Given the description of an element on the screen output the (x, y) to click on. 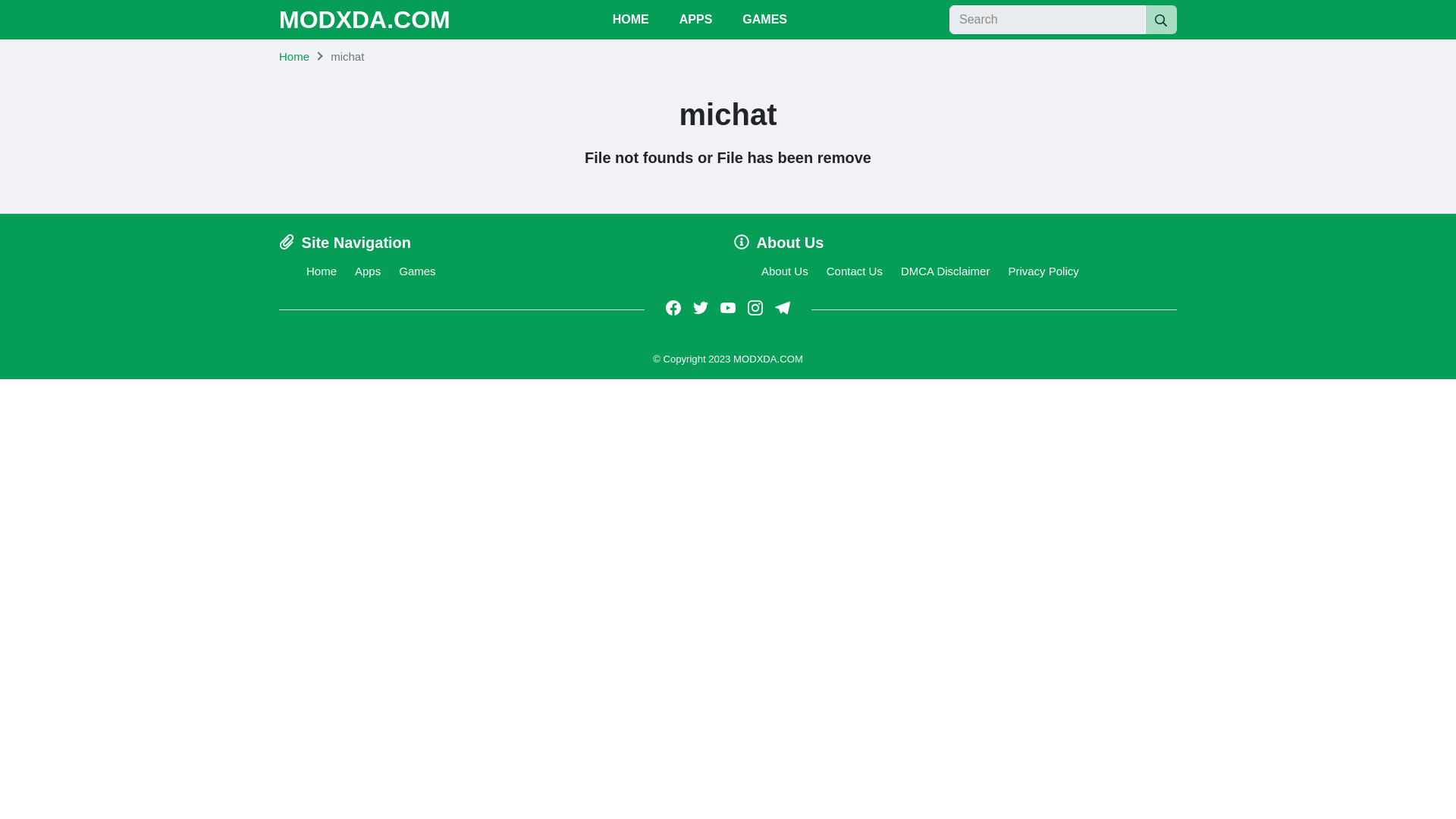
HOME (629, 19)
Apps (367, 270)
Privacy Policy (1042, 270)
Contact Us (854, 270)
DMCA Disclaimer (945, 270)
Home (320, 270)
MODXDA.COM (364, 19)
Games (416, 270)
GAMES (764, 19)
Home (293, 56)
APPS (695, 19)
Home (293, 56)
About Us (784, 270)
